Given the description of an element on the screen output the (x, y) to click on. 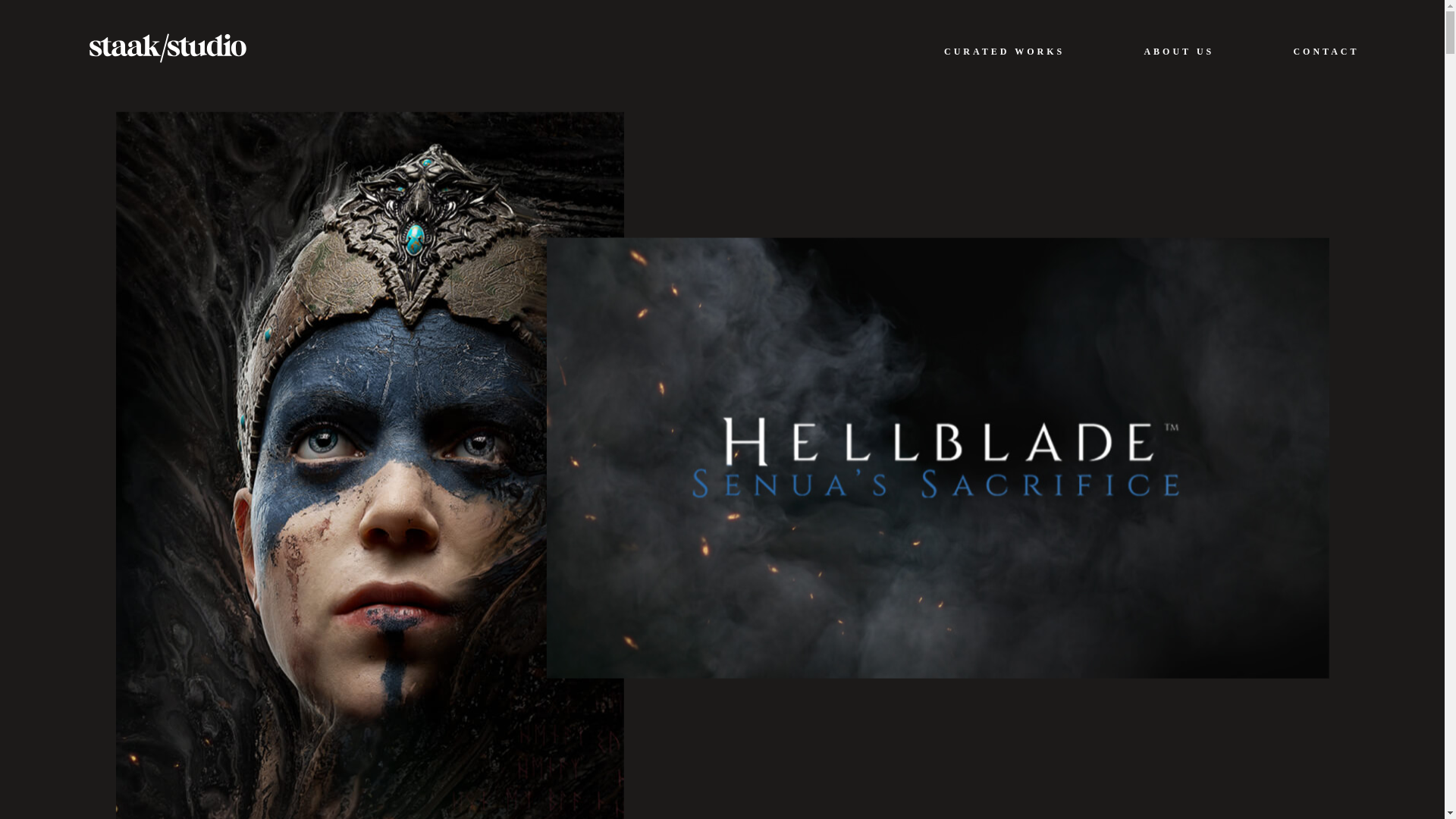
CONTACT (1325, 50)
Instagram (279, 678)
STAAK STUDIO (166, 47)
ABOUT US (1178, 50)
Twitter (339, 678)
CURATED WORKS (1003, 50)
Medium (400, 678)
